Given the description of an element on the screen output the (x, y) to click on. 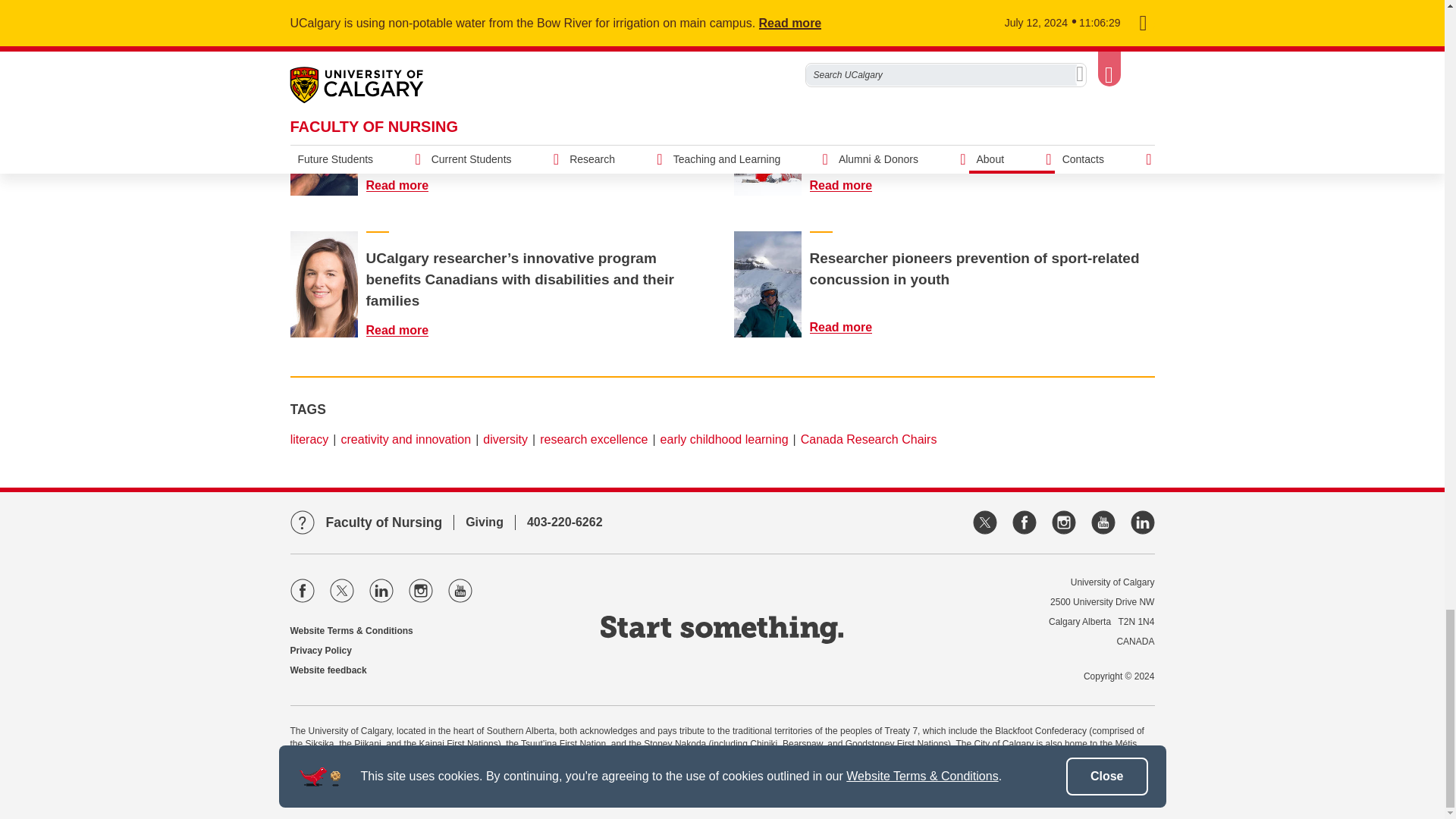
Grad student surveys result in positive change (850, 42)
7 UCalgary faculty named Canada Research Chairs (850, 185)
Grad student surveys result in positive change (767, 27)
Comedy in the classroom? How improv can promote literacy (323, 27)
Comedy in the classroom? How improv can promote literacy (405, 42)
